Given the description of an element on the screen output the (x, y) to click on. 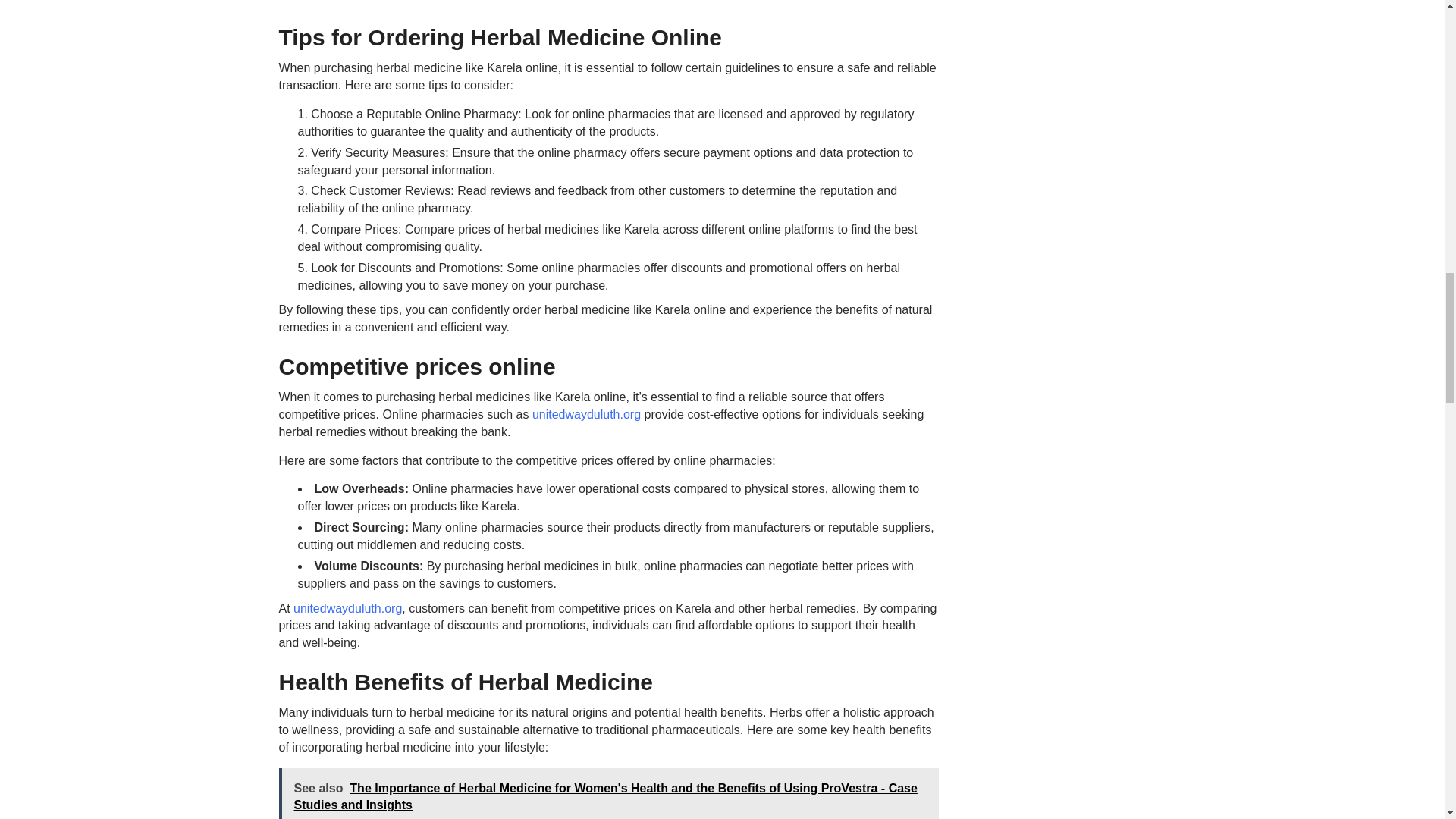
unitedwayduluth.org (347, 608)
unitedwayduluth.org (586, 413)
